Given the description of an element on the screen output the (x, y) to click on. 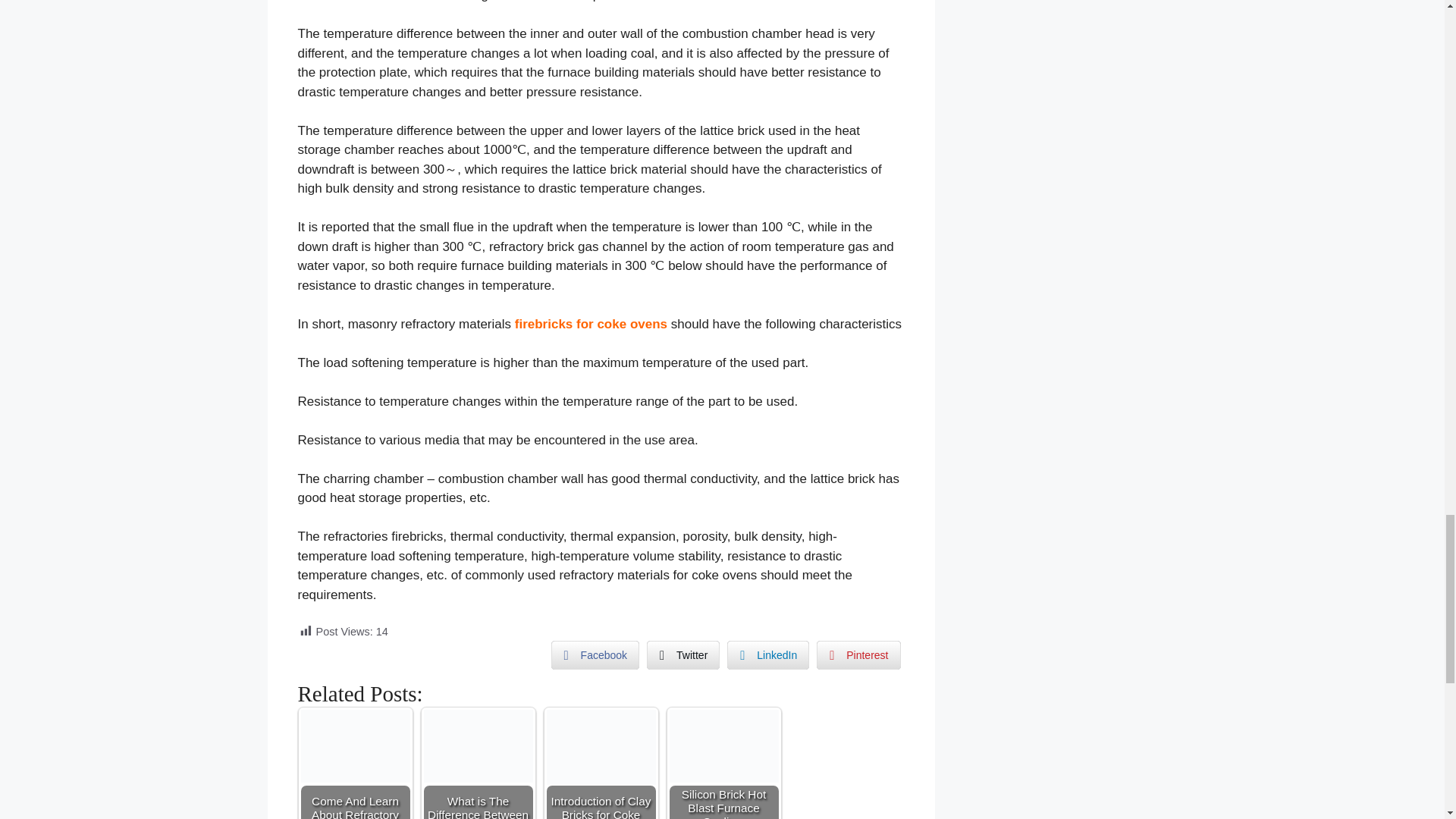
Introduction of Clay Bricks for Coke Oven (600, 747)
Come And Learn About Refractory Silica Bricks (354, 746)
